Given the description of an element on the screen output the (x, y) to click on. 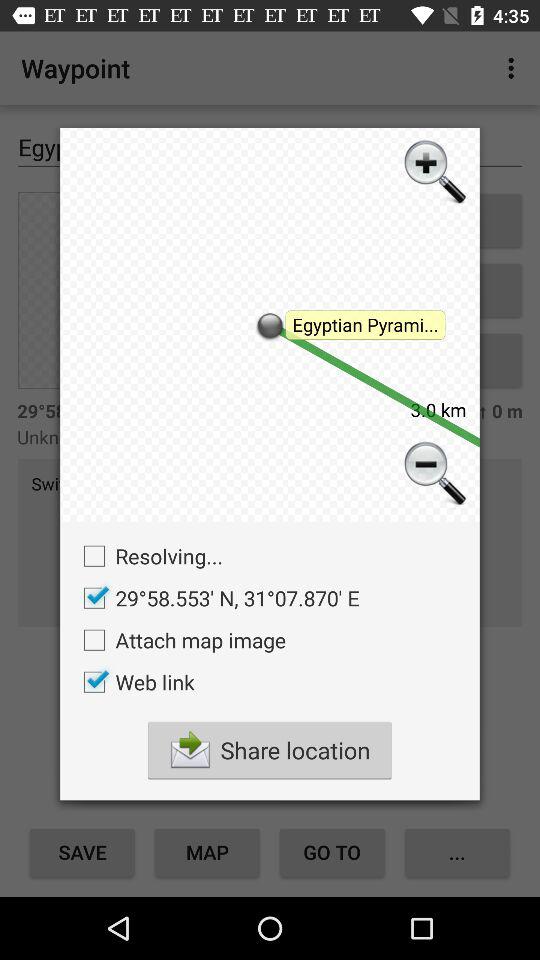
scroll until attach map image (179, 640)
